Given the description of an element on the screen output the (x, y) to click on. 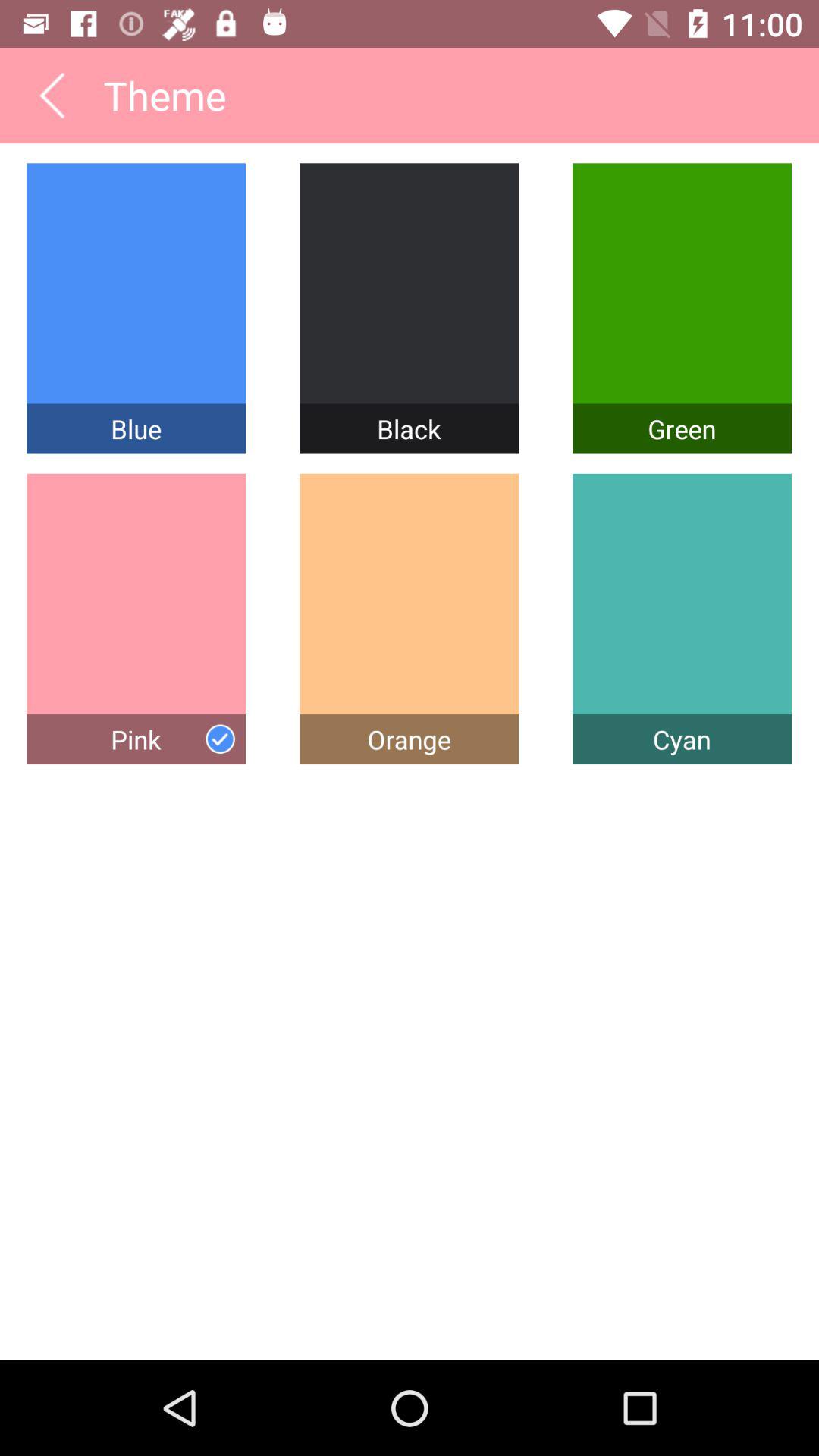
press the item next to the theme app (51, 95)
